Given the description of an element on the screen output the (x, y) to click on. 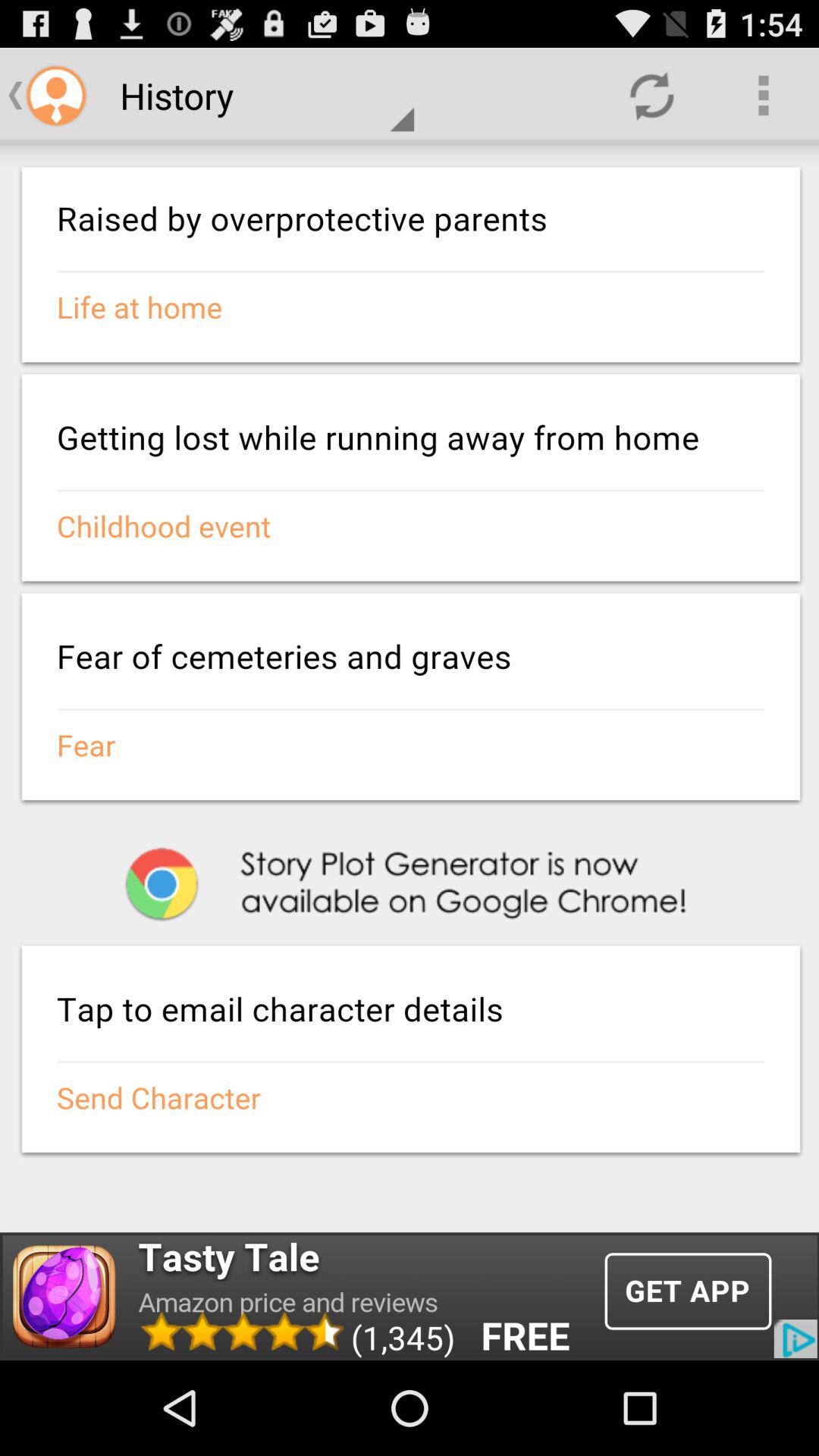
read stories (409, 687)
